Given the description of an element on the screen output the (x, y) to click on. 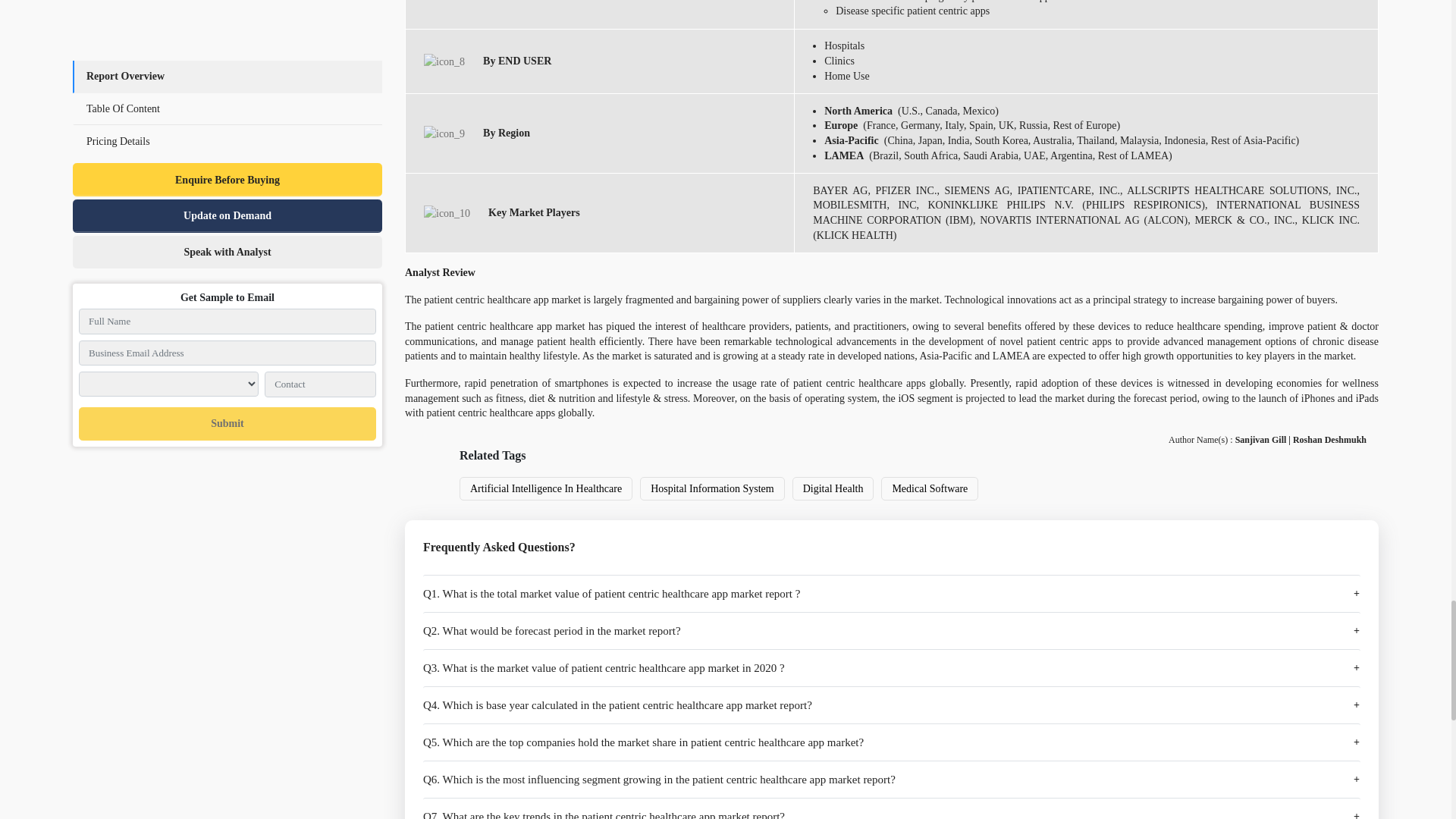
Key Market Players (446, 213)
Digital Health (832, 488)
Hospital Information System (712, 488)
Artificial Intelligence In Healthcare (545, 488)
Patient Centric Healthcare App Market By END USER (443, 61)
Patient Centric Healthcare App Market By Region (443, 133)
